Given the description of an element on the screen output the (x, y) to click on. 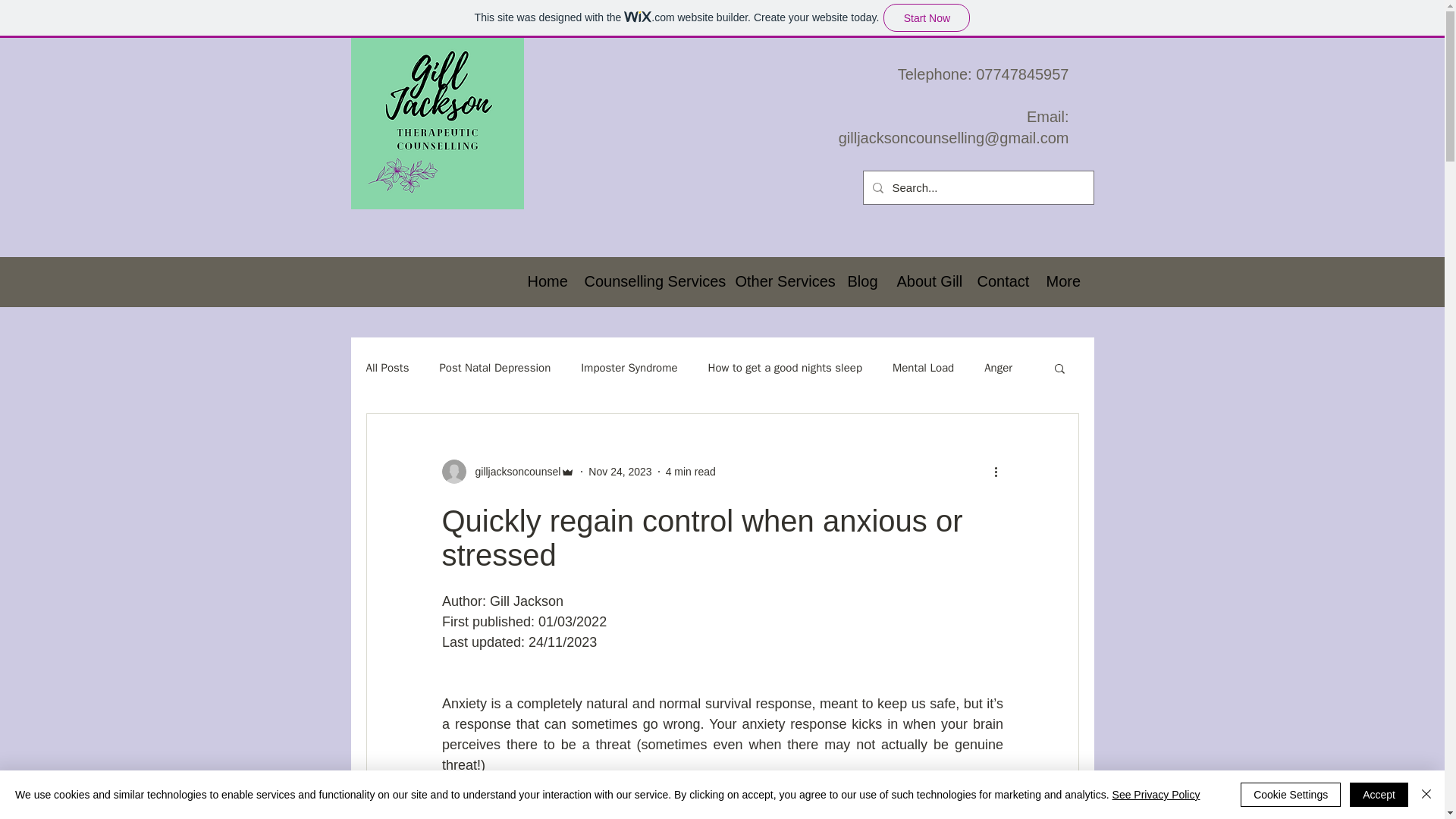
4 min read (690, 471)
Post Natal Depression (494, 368)
Nov 24, 2023 (619, 471)
Home (543, 281)
About Gill (925, 281)
Other Services (779, 281)
gilljacksoncounsel (512, 471)
Anger (997, 368)
How to get a good nights sleep (784, 368)
All Posts (387, 368)
